Given the description of an element on the screen output the (x, y) to click on. 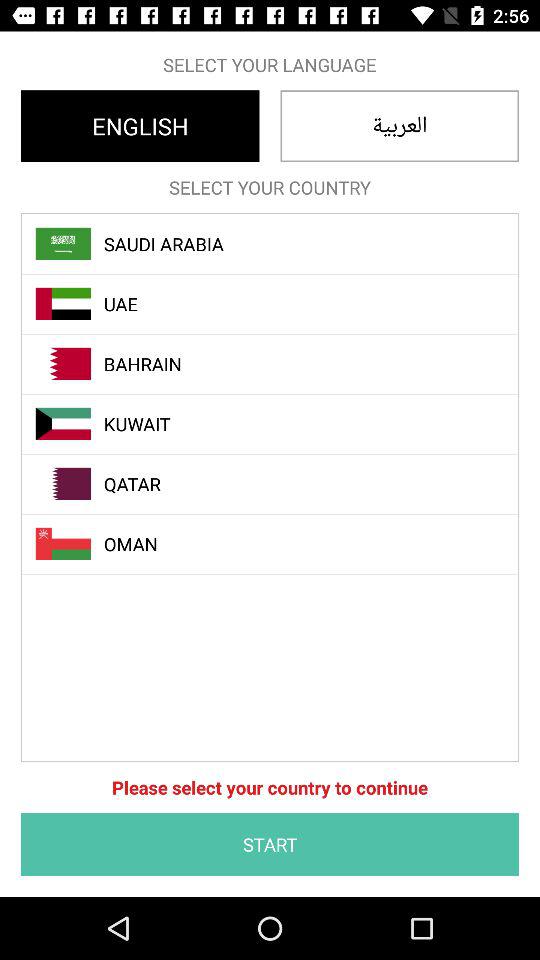
turn on the icon above select your country icon (140, 126)
